Given the description of an element on the screen output the (x, y) to click on. 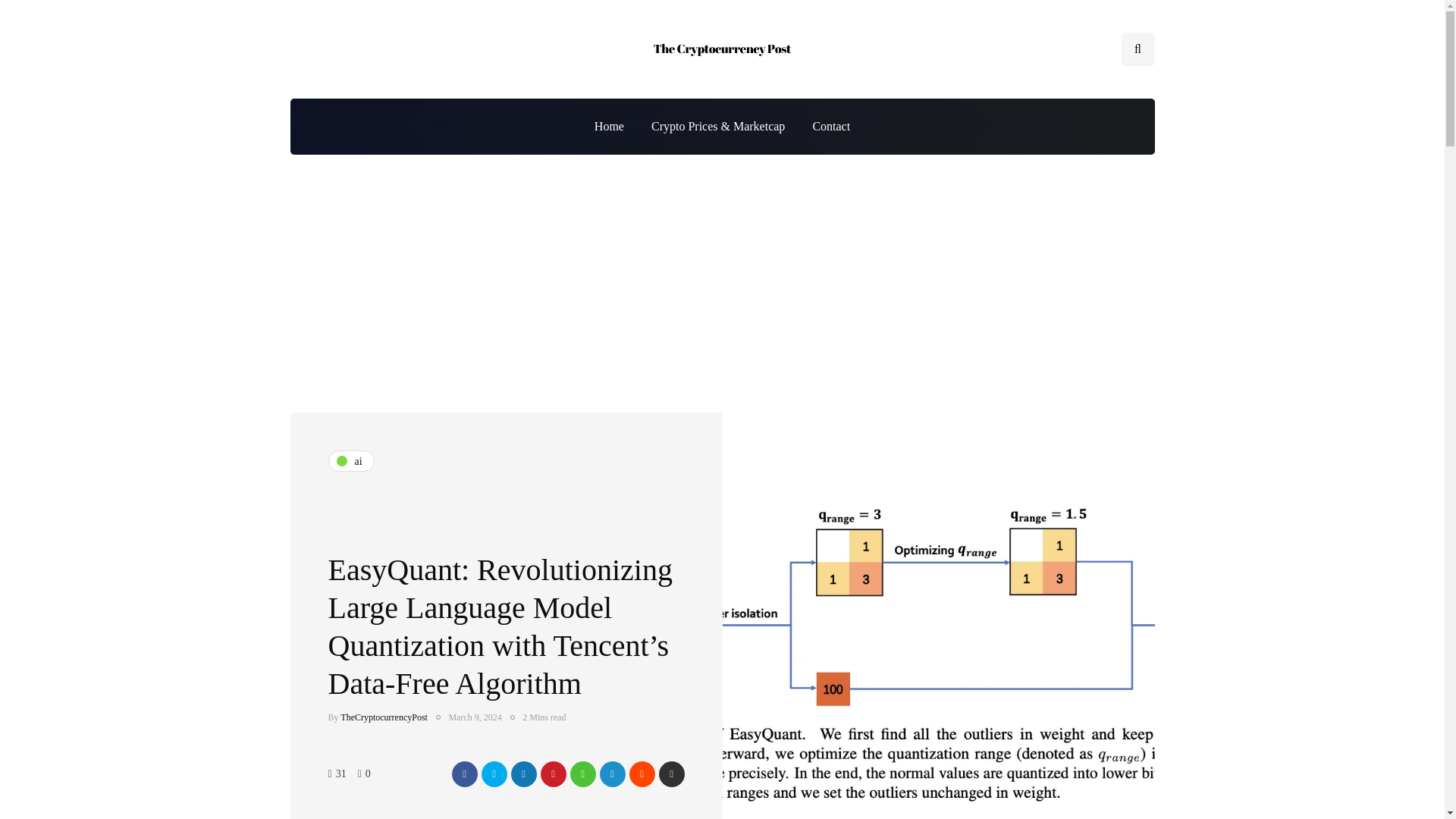
Share with Facebook (464, 774)
Tweet this (493, 774)
Share to Telegram (611, 774)
Share by Email (671, 774)
Contact (830, 126)
Share with LinkedIn (524, 774)
TheCryptocurrencyPost (384, 716)
Home (608, 126)
Pin this (553, 774)
Posts by TheCryptocurrencyPost (384, 716)
Share on Reddit (641, 774)
ai (350, 460)
Share to WhatsApp (582, 774)
